Given the description of an element on the screen output the (x, y) to click on. 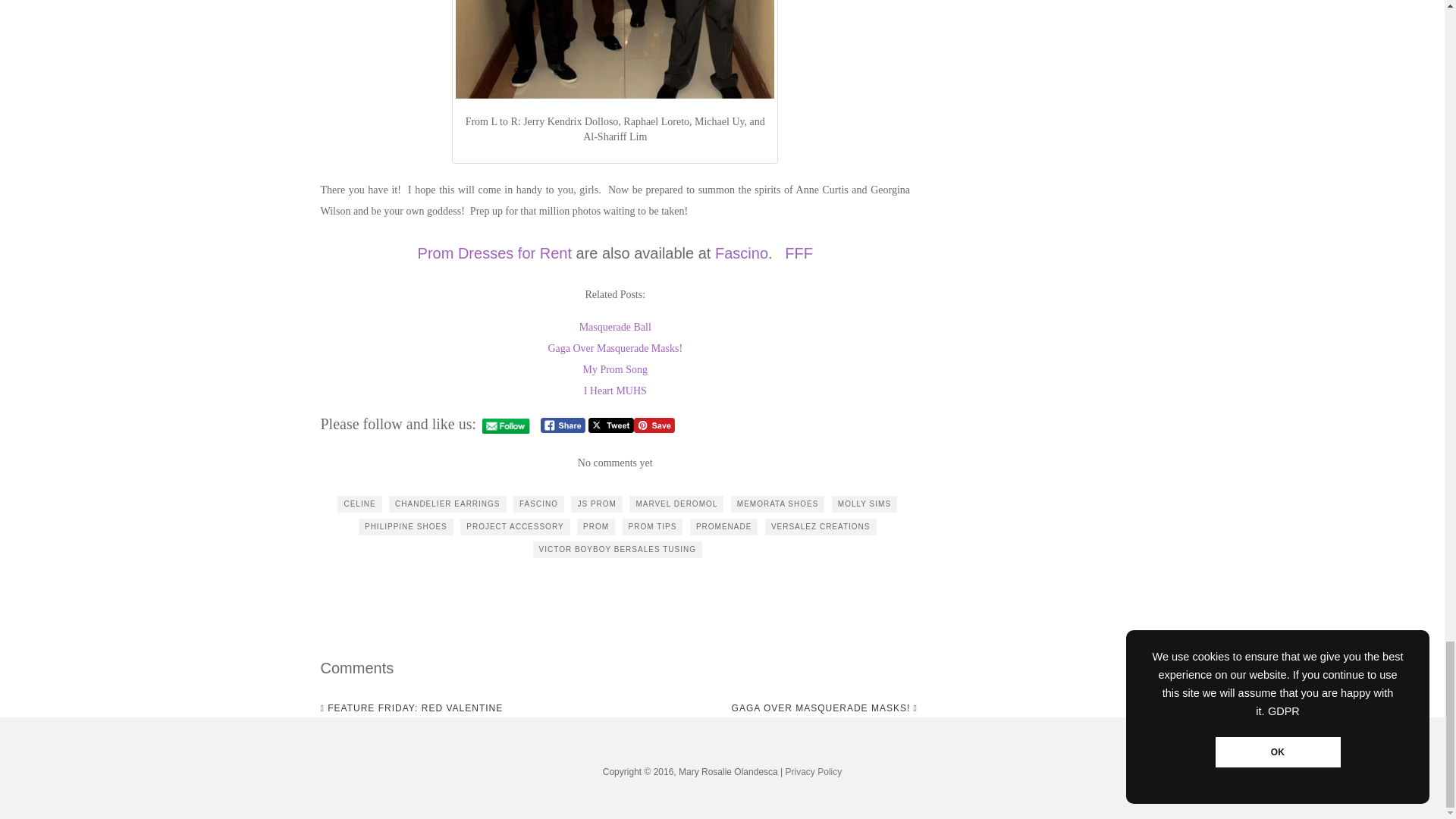
Prom Dresses for Rent (494, 252)
Gaga Over Masquerade Masks! (614, 348)
Tweet (610, 425)
Pin Share (654, 425)
My Prom Song (614, 369)
FFF (798, 252)
I Heart MUHS (614, 390)
Facebook Share (562, 425)
Fascino (741, 252)
Masquerade Ball (614, 326)
